Given the description of an element on the screen output the (x, y) to click on. 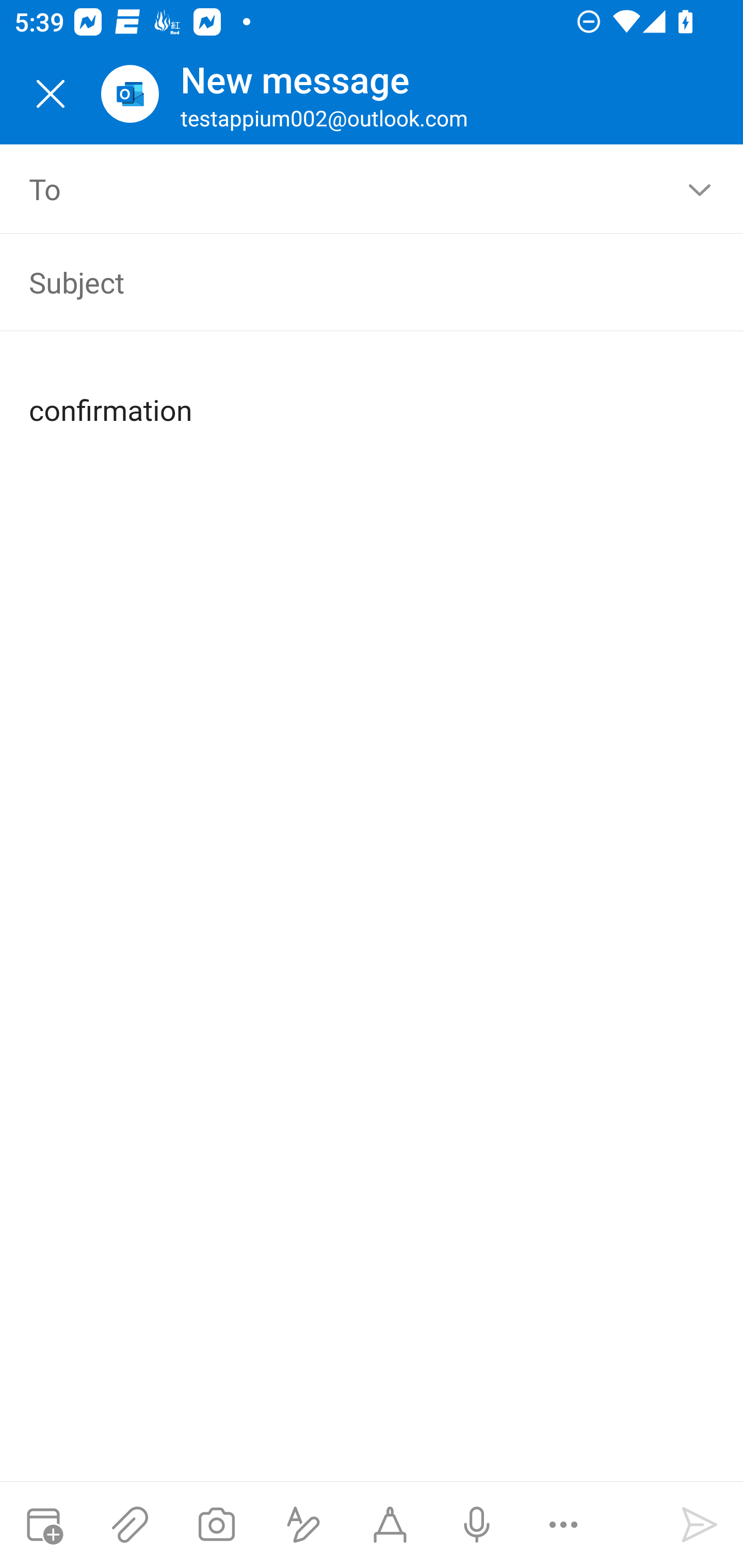
Close (50, 93)
Subject (342, 281)

confirmation (372, 394)
Attach meeting (43, 1524)
Attach files (129, 1524)
Take a photo (216, 1524)
Show formatting options (303, 1524)
Start Ink compose (389, 1524)
Dictation (476, 1524)
More options (563, 1524)
Send (699, 1524)
